Given the description of an element on the screen output the (x, y) to click on. 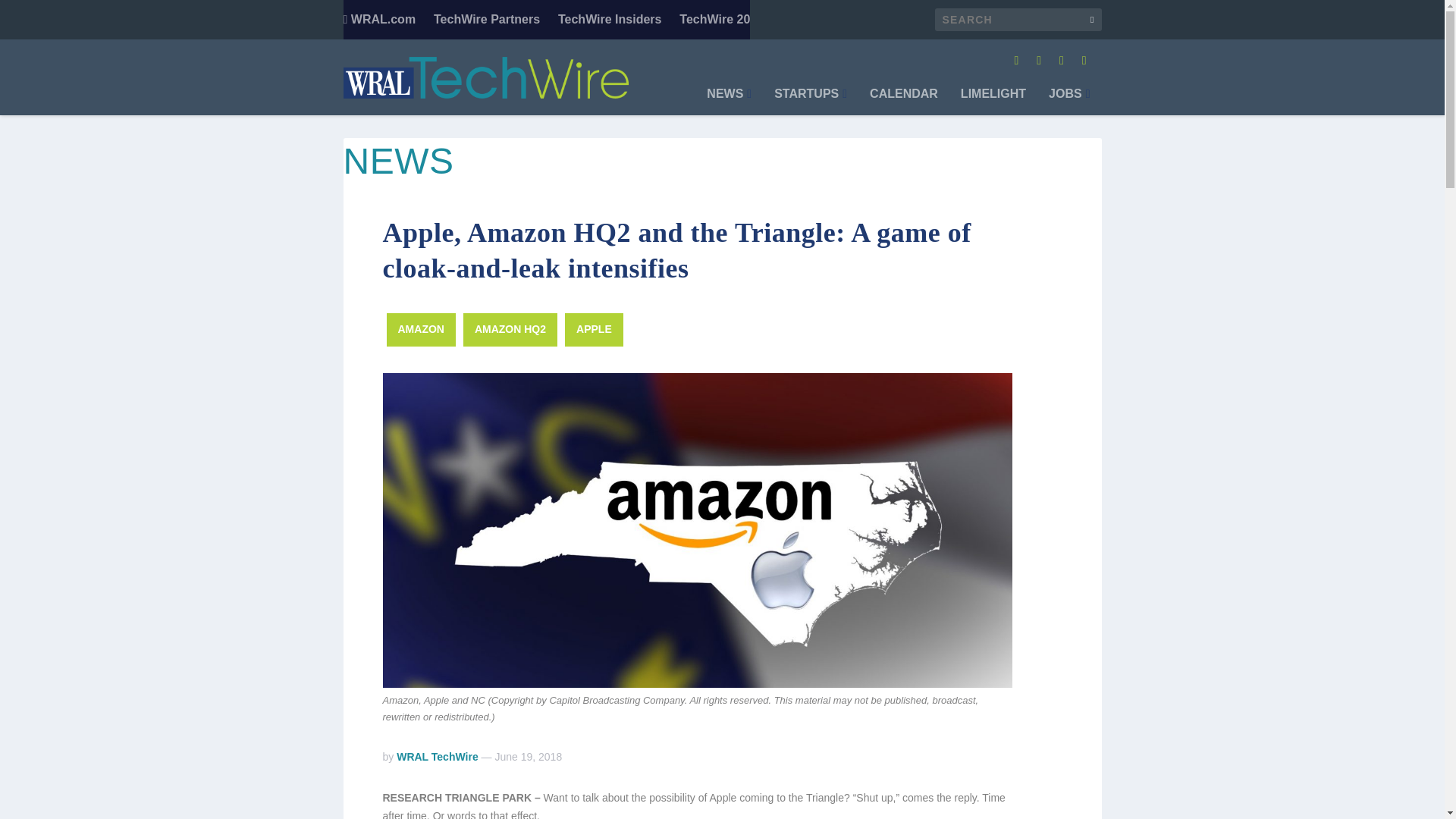
TechWire 20 (714, 19)
CALENDAR (903, 101)
LIMELIGHT (993, 101)
NEWS (728, 101)
JOBS (1068, 101)
Search for: (1017, 19)
TechWire Insiders (609, 19)
TechWire Partners (486, 19)
WRAL.com (378, 19)
STARTUPS (810, 101)
